Given the description of an element on the screen output the (x, y) to click on. 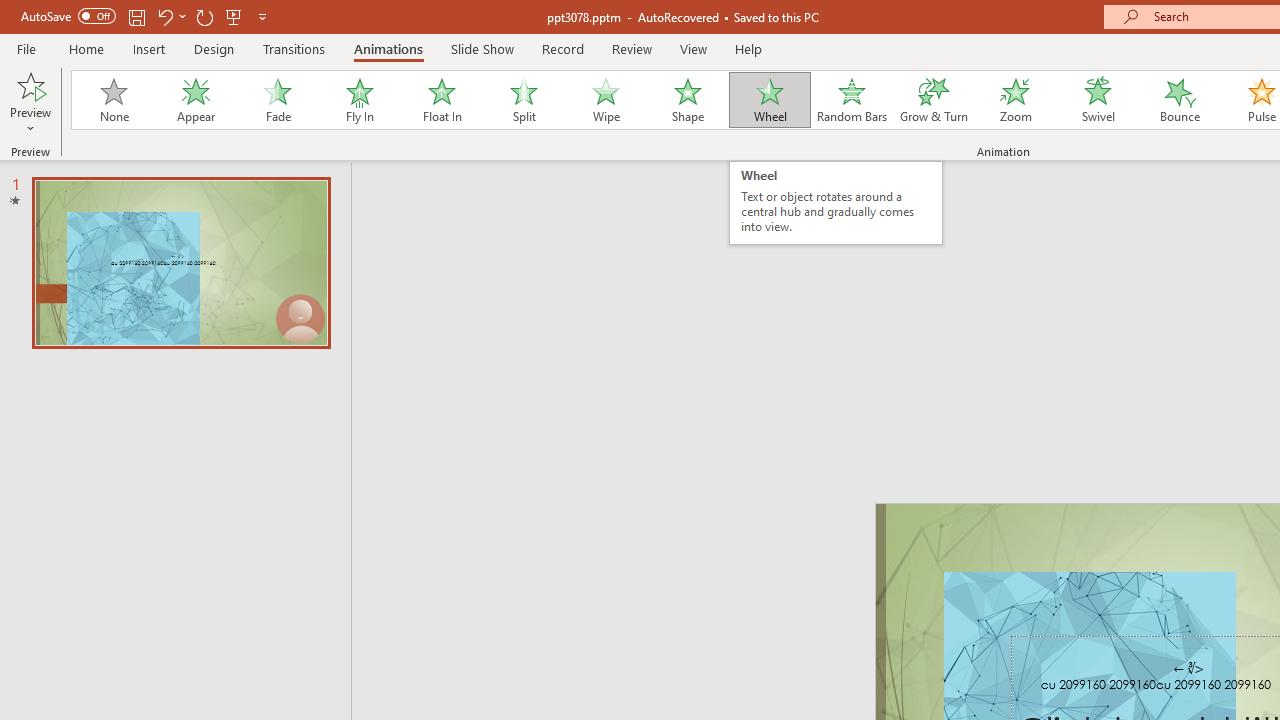
Grow & Turn (934, 100)
Wheel (770, 100)
Float In (441, 100)
